Given the description of an element on the screen output the (x, y) to click on. 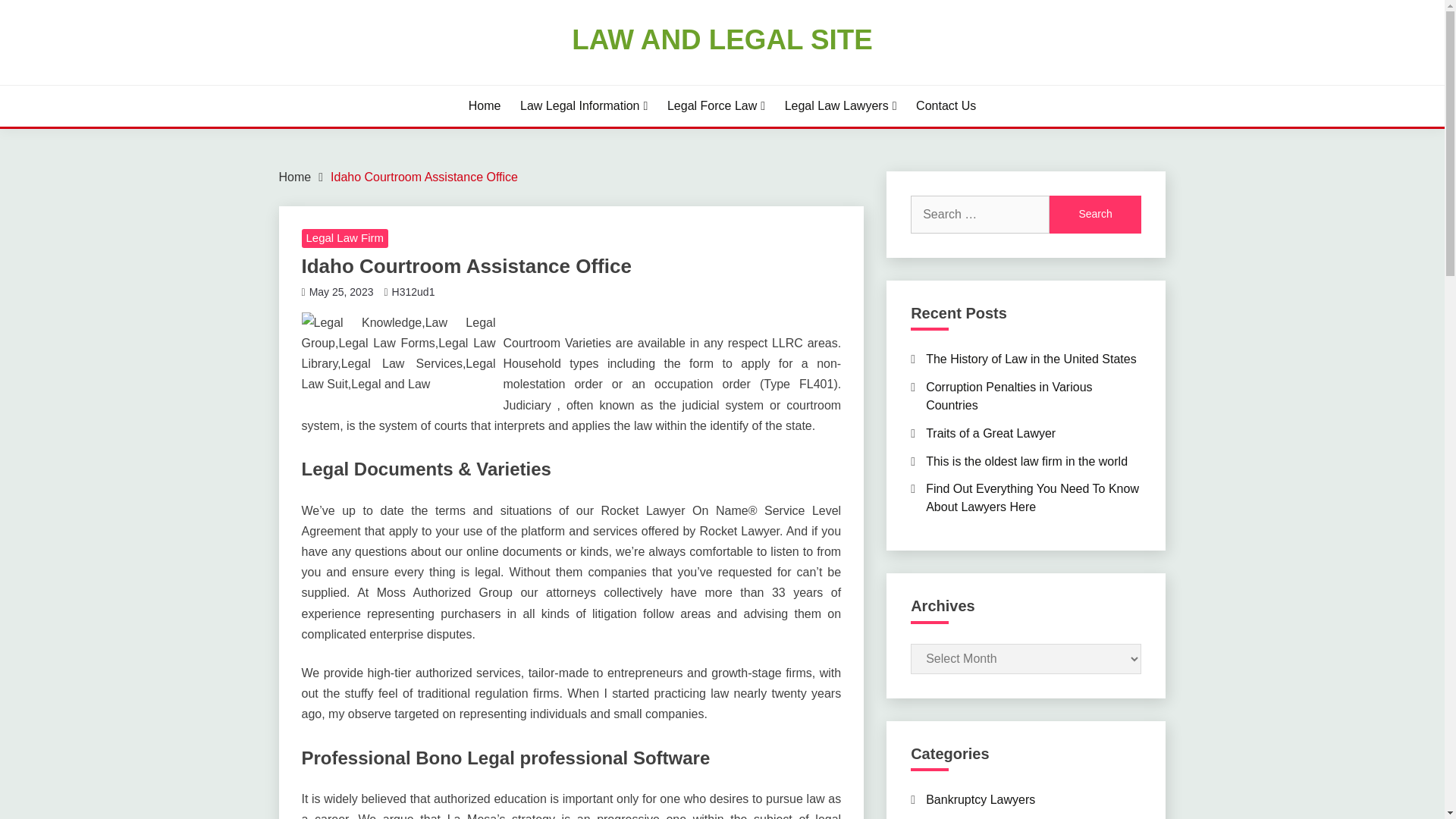
Contact Us (945, 106)
Legal Law Firm (344, 238)
Law Legal Information (583, 106)
Idaho Courtroom Assistance Office (424, 176)
LAW AND LEGAL SITE (722, 39)
H312ud1 (413, 291)
May 25, 2023 (341, 291)
Search (1095, 214)
Search (1095, 214)
Search (1095, 214)
